Given the description of an element on the screen output the (x, y) to click on. 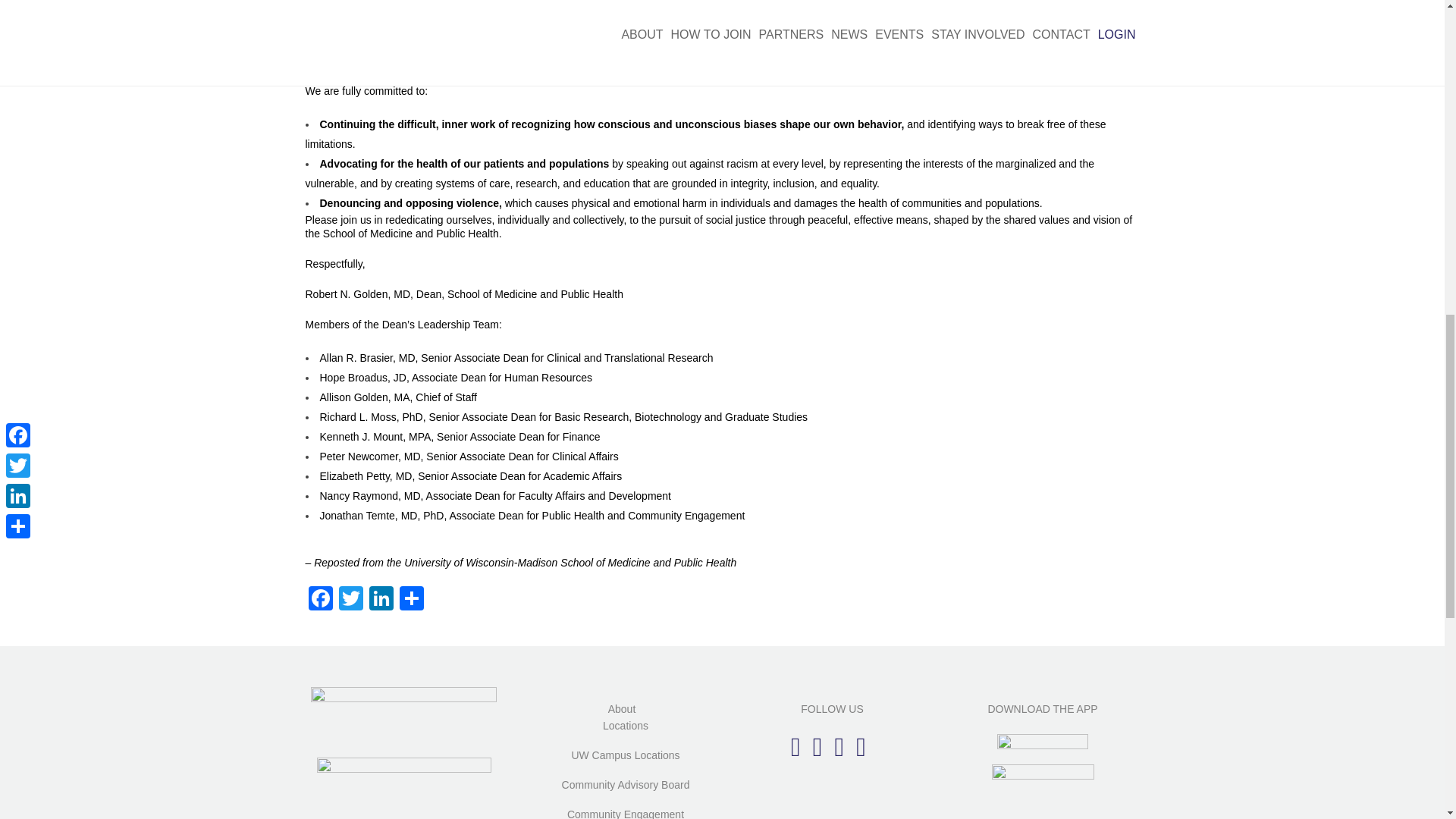
Twitter (349, 600)
LinkedIn (380, 600)
Facebook (319, 600)
